Given the description of an element on the screen output the (x, y) to click on. 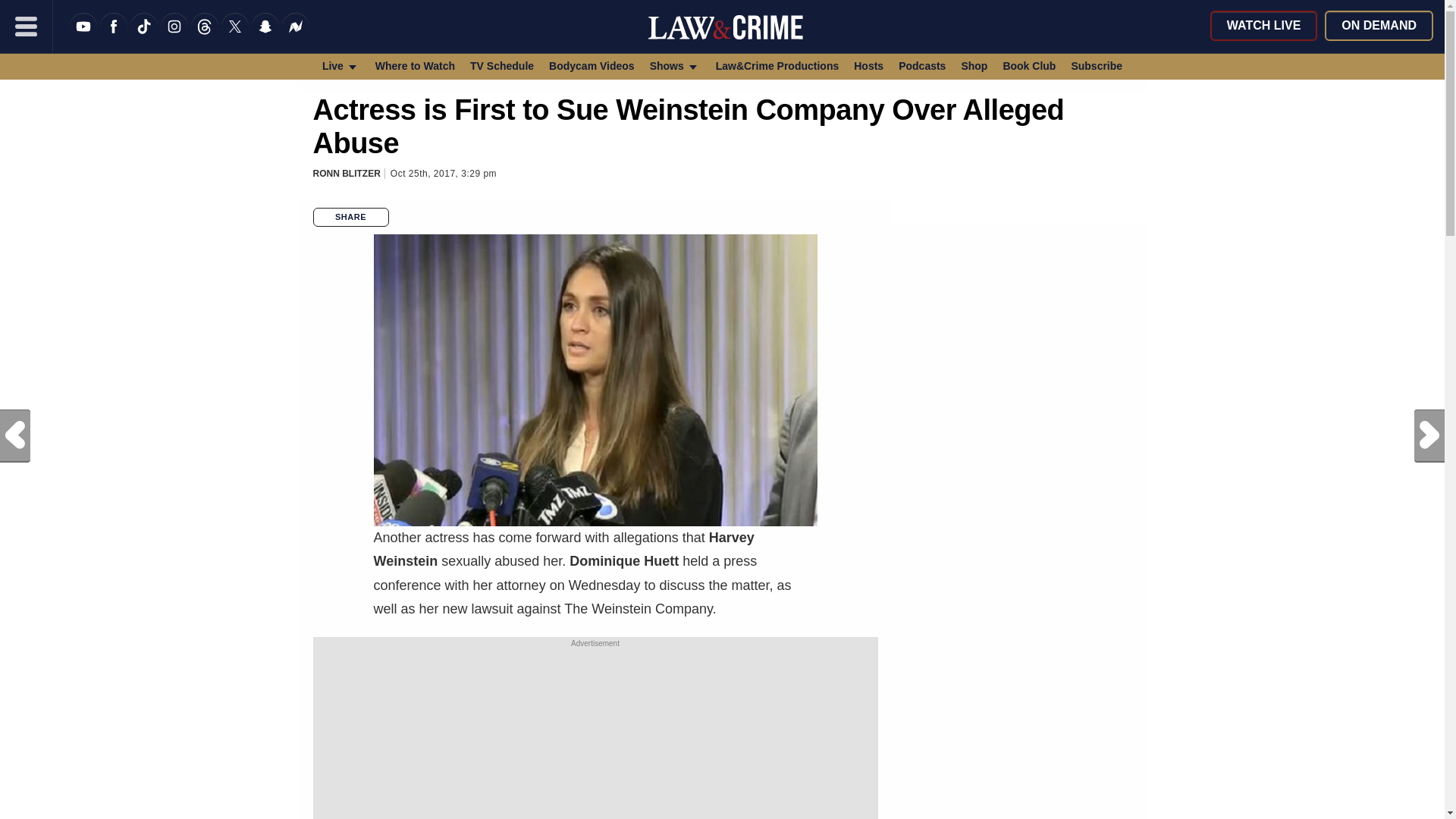
Instagram (173, 35)
TikTok (144, 35)
YouTube (83, 35)
Like us on Facebook (114, 35)
Threads (204, 35)
Snapchat (265, 35)
